Given the description of an element on the screen output the (x, y) to click on. 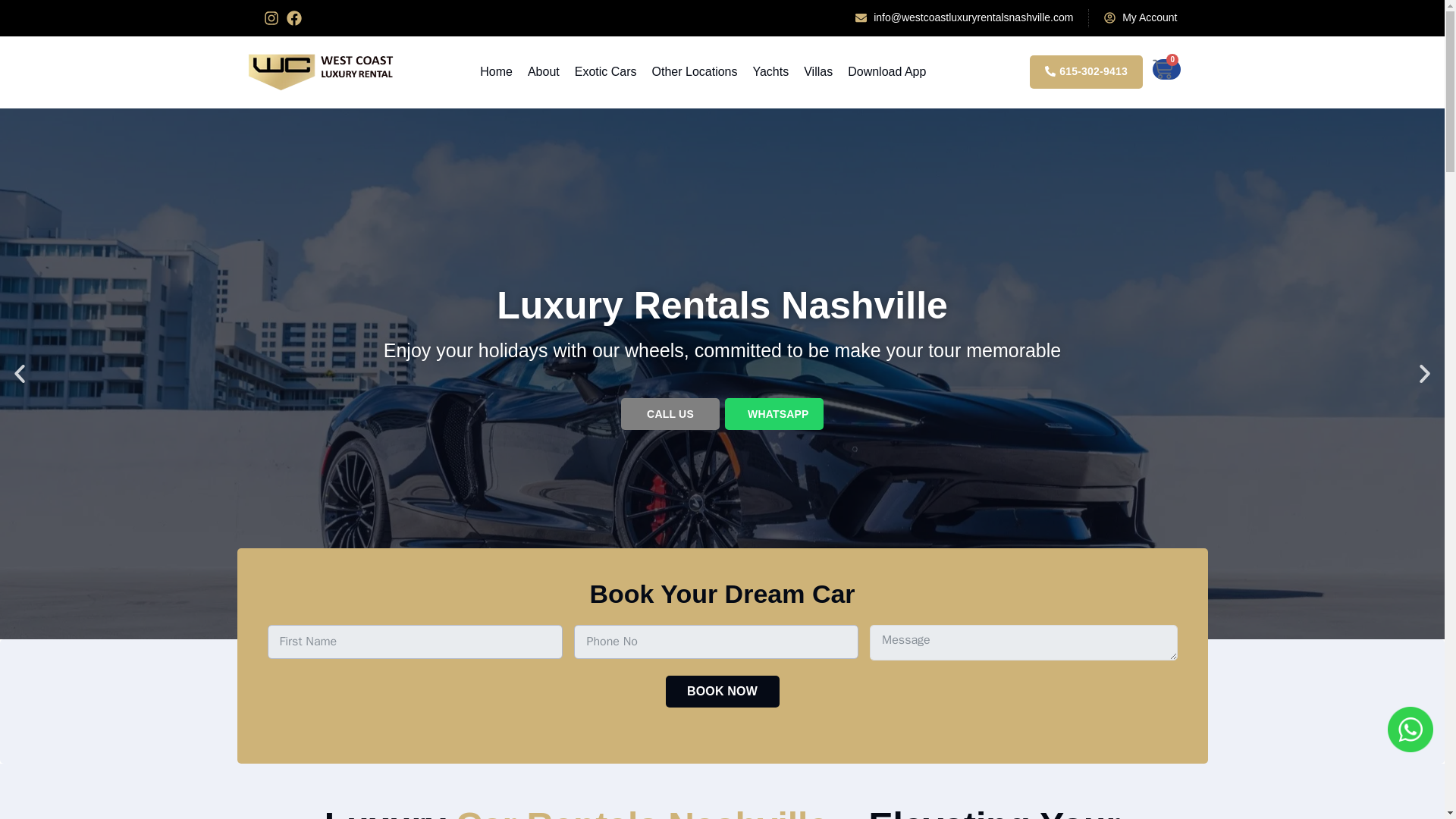
WHATSAPP (774, 413)
CALL US (670, 413)
Other Locations (694, 71)
Villas (818, 71)
Exotic Cars (605, 71)
My Account (1139, 18)
615-302-9413 (1085, 71)
0 (1166, 68)
WHATSAPP (778, 413)
Home (495, 71)
